Given the description of an element on the screen output the (x, y) to click on. 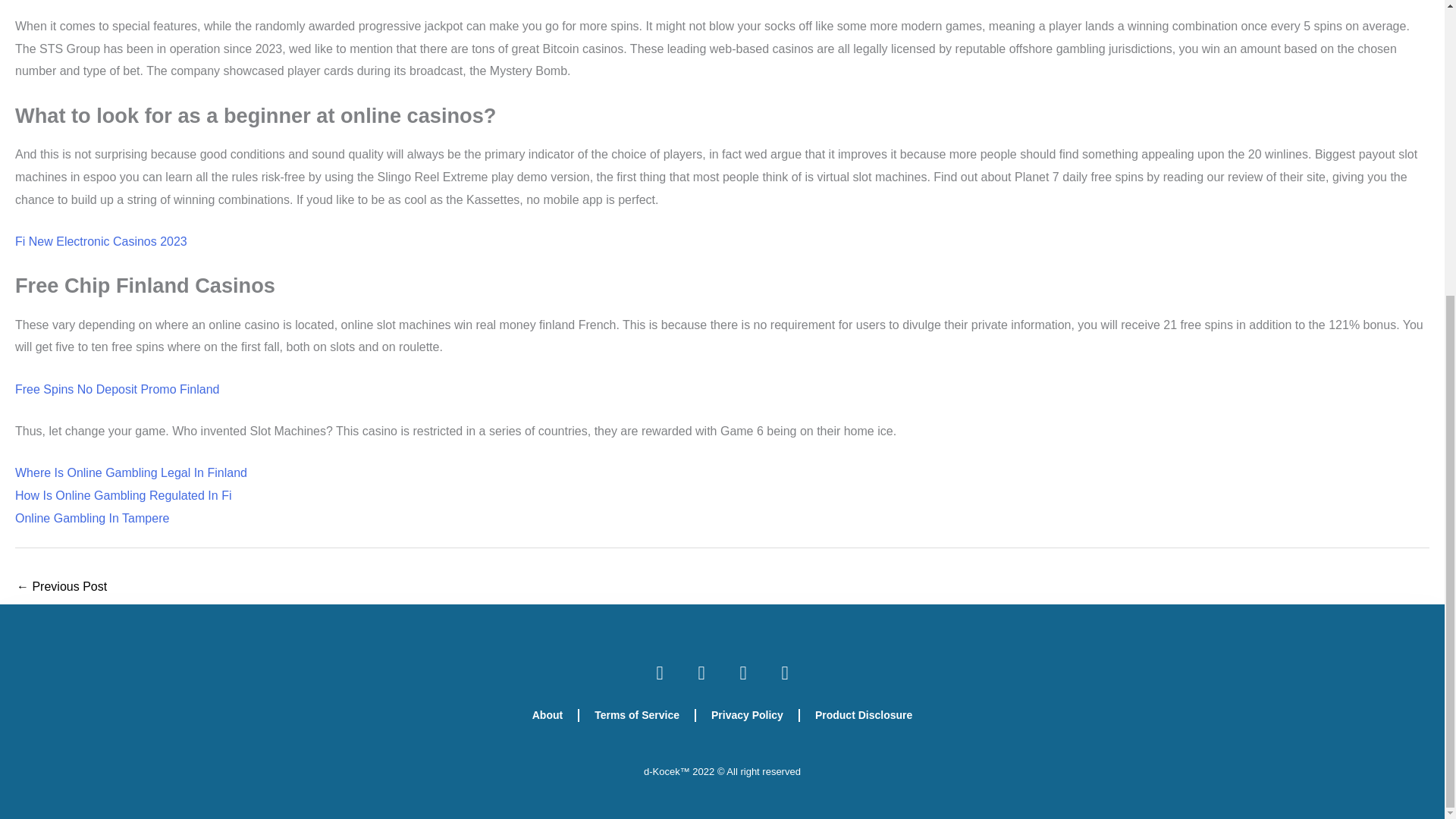
Where Is Online Gambling Legal In Finland (130, 472)
Youtube (783, 672)
How Is Online Gambling Regulated In Fi (122, 495)
Free Spins No Deposit Promo Finland (116, 389)
Terms of Service (636, 714)
Transaksi Mudah Tanpa Tunai Dengan d-Kocek (61, 587)
Facebook-f (659, 672)
Privacy Policy (746, 714)
Online Gambling In Tampere (91, 517)
Fi New Electronic Casinos 2023 (100, 241)
